Given the description of an element on the screen output the (x, y) to click on. 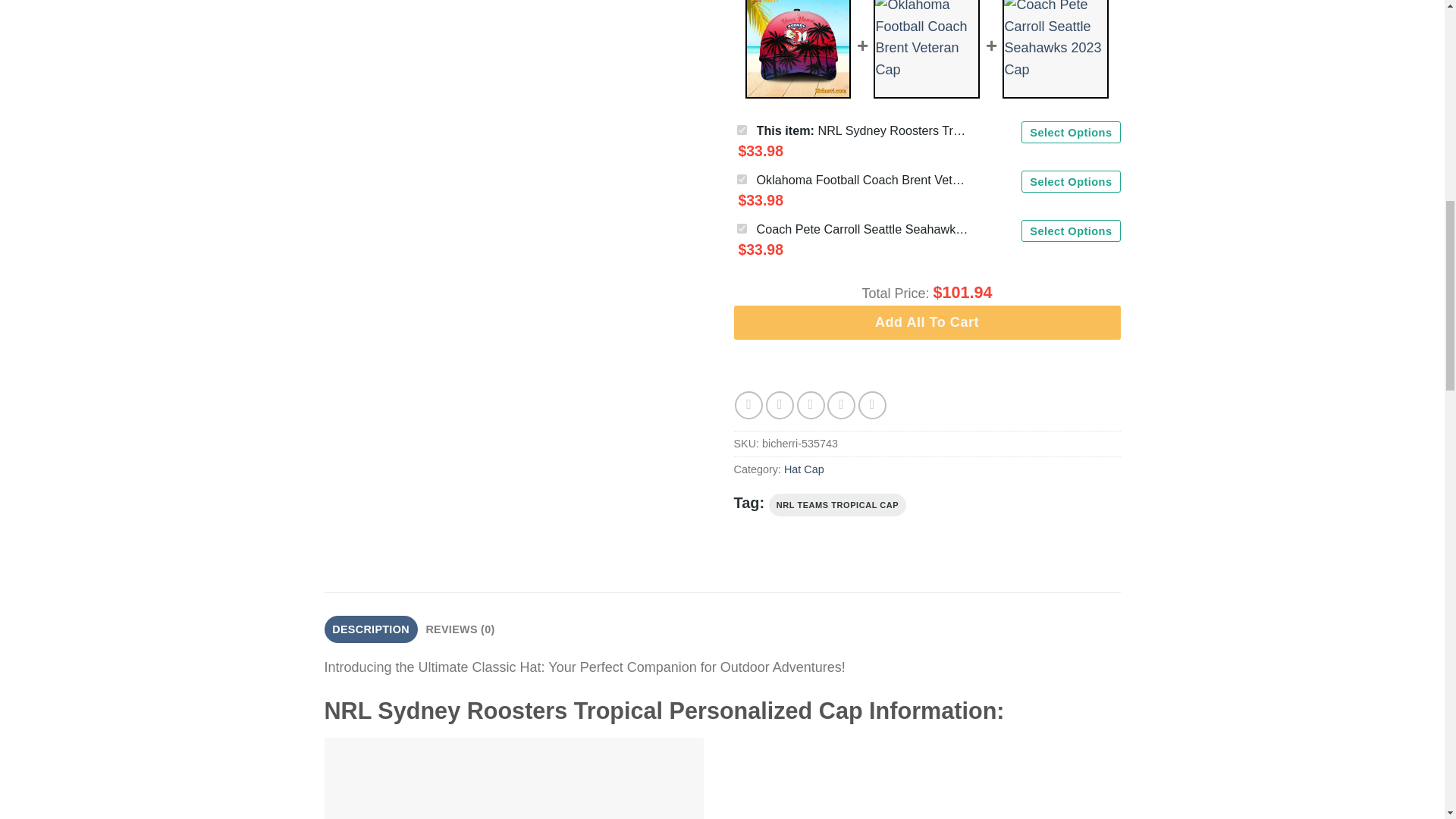
523897 (741, 228)
525351 (741, 179)
Share on Twitter (779, 405)
This item: NRL Sydney Roosters Tropical Personalized Cap (863, 130)
Select Options (1070, 181)
535743 (741, 130)
Email to a Friend (810, 405)
Oklahoma Football Coach Brent Veteran Cap (863, 179)
Coach Pete Carroll Seattle Seahawks 2023 Cap (863, 229)
Add All To Cart (927, 322)
